Given the description of an element on the screen output the (x, y) to click on. 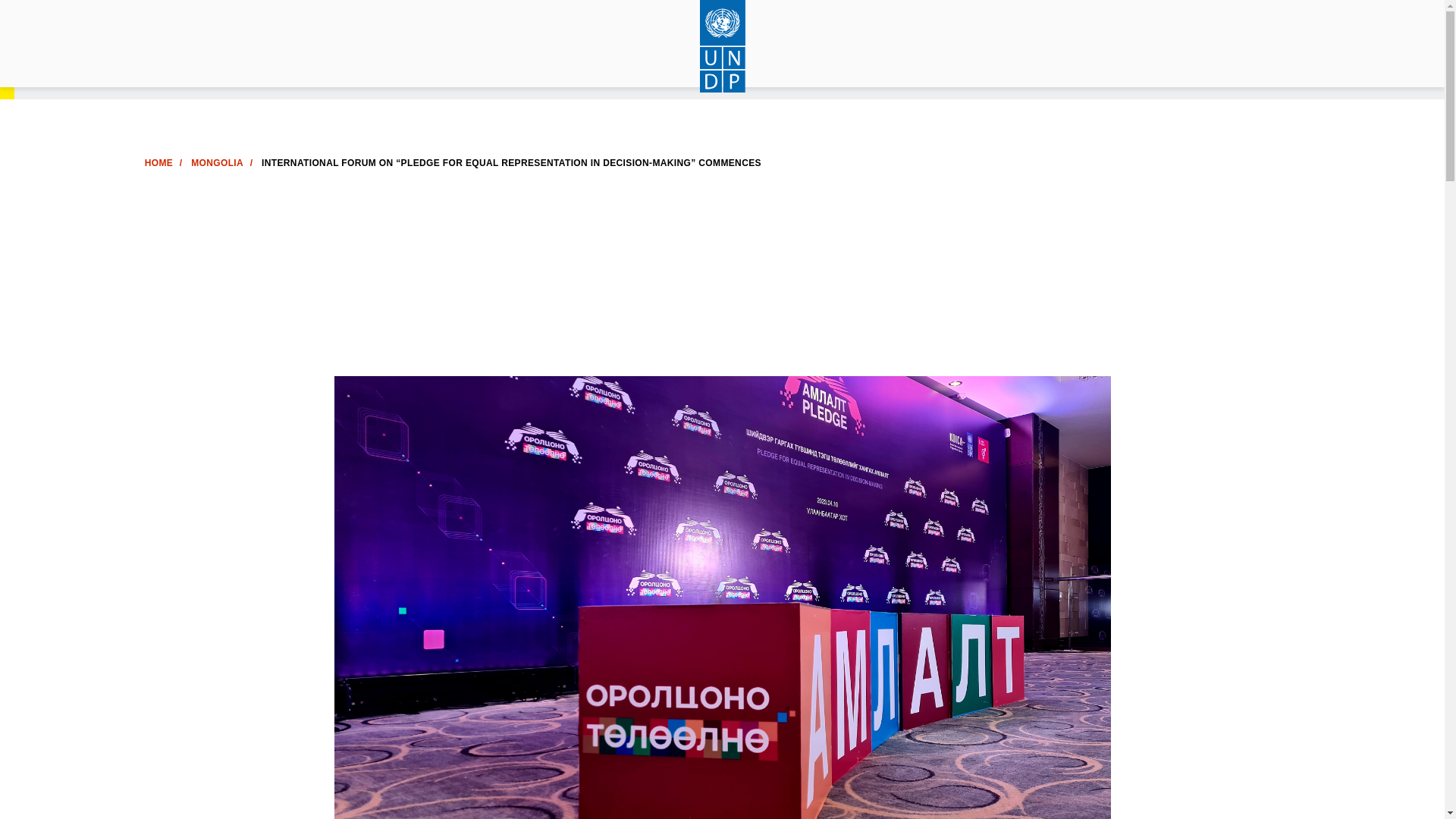
HOME (158, 163)
MONGOLIA (216, 163)
